Given the description of an element on the screen output the (x, y) to click on. 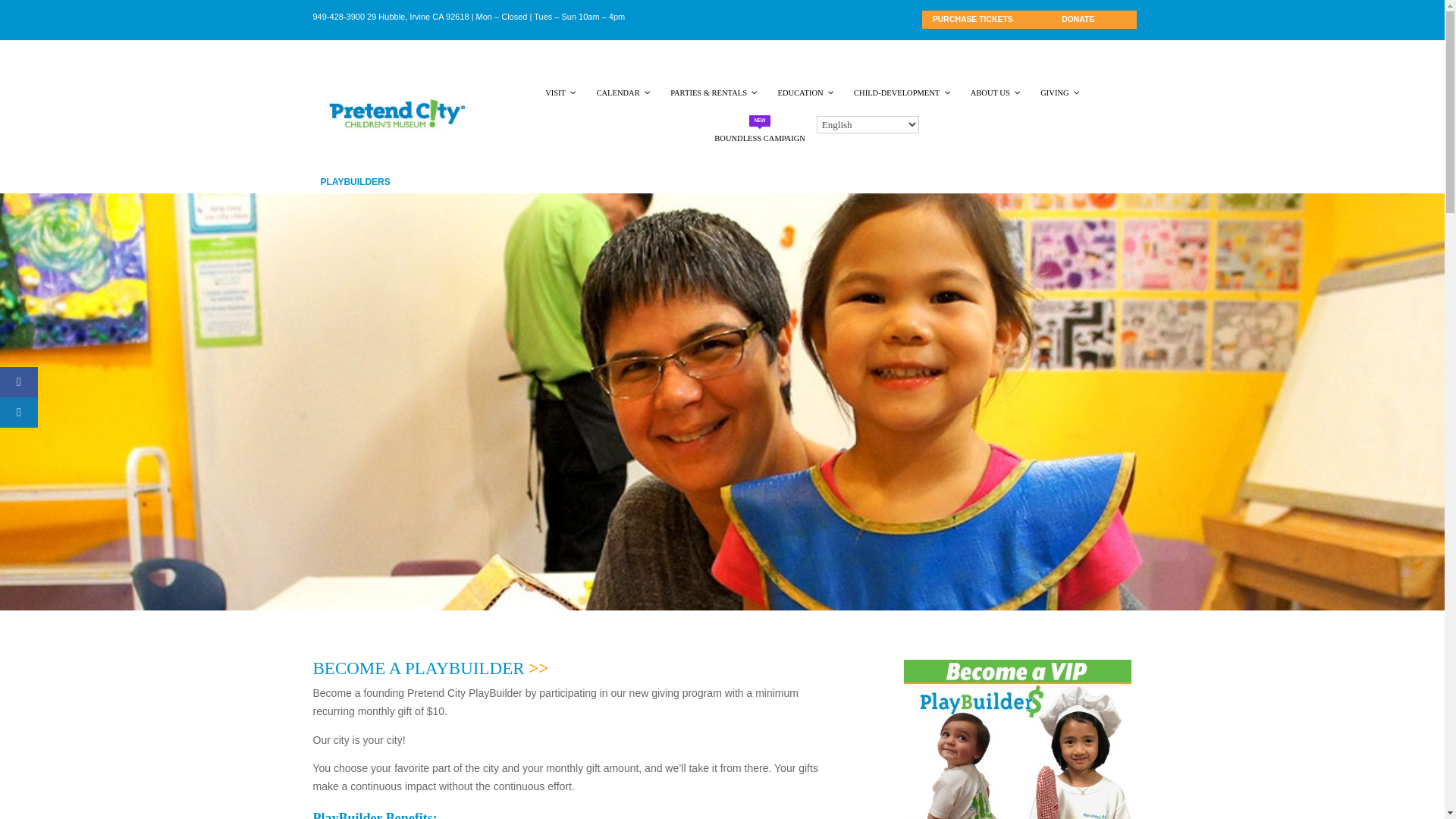
DONATE (1095, 21)
949-428-3900 (339, 16)
VISIT (559, 92)
CHILD-DEVELOPMENT (901, 92)
CALENDAR (622, 92)
PURCHASE TICKETS (989, 21)
EDUCATION (804, 92)
